Given the description of an element on the screen output the (x, y) to click on. 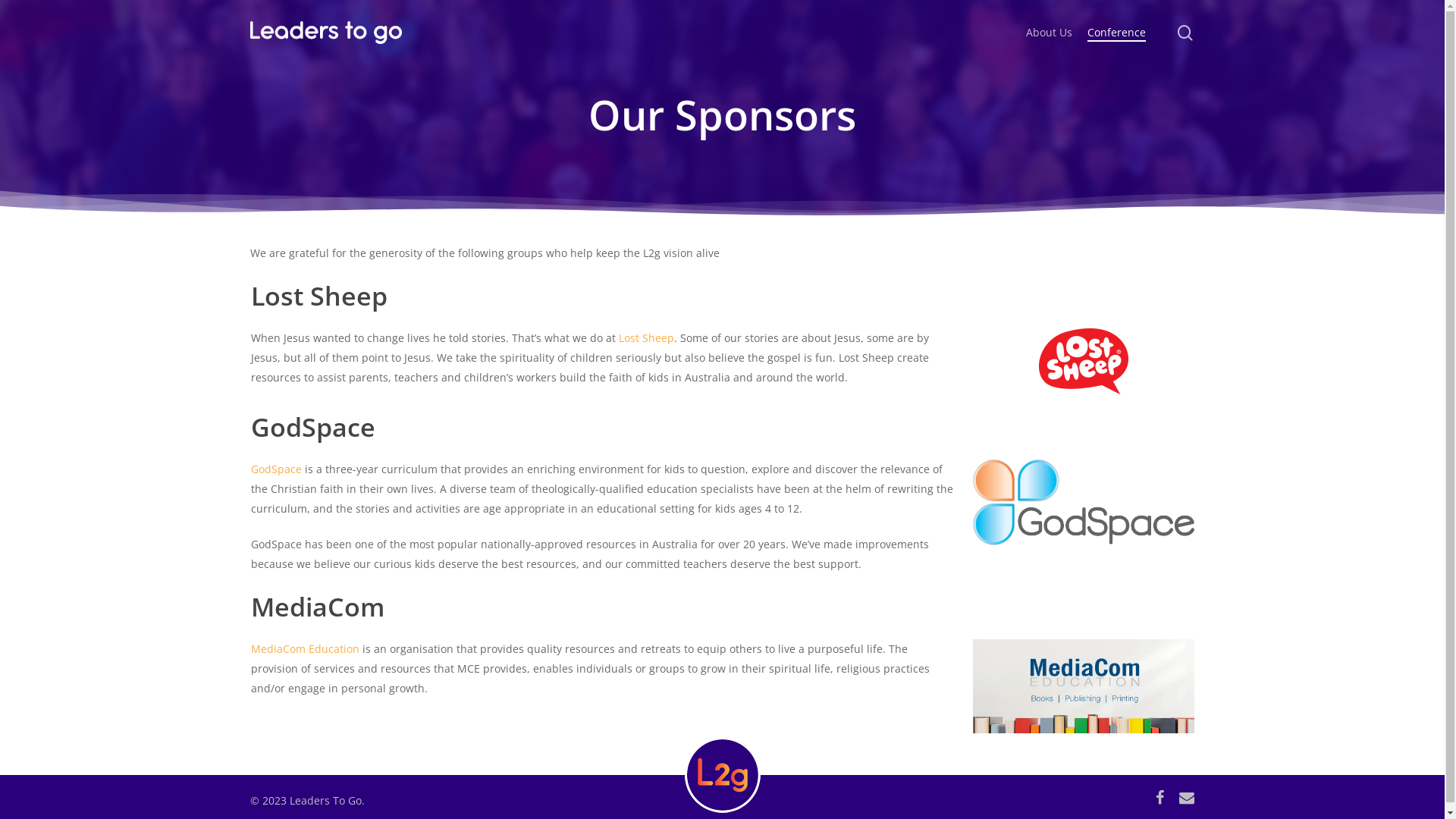
MediaCom Education Element type: text (304, 648)
Conference Element type: text (1116, 32)
search Element type: text (1185, 32)
GodSpace Element type: text (275, 468)
facebook Element type: text (1159, 799)
About Us Element type: text (1049, 32)
Lost Sheep Element type: text (646, 337)
email Element type: text (1186, 799)
